Given the description of an element on the screen output the (x, y) to click on. 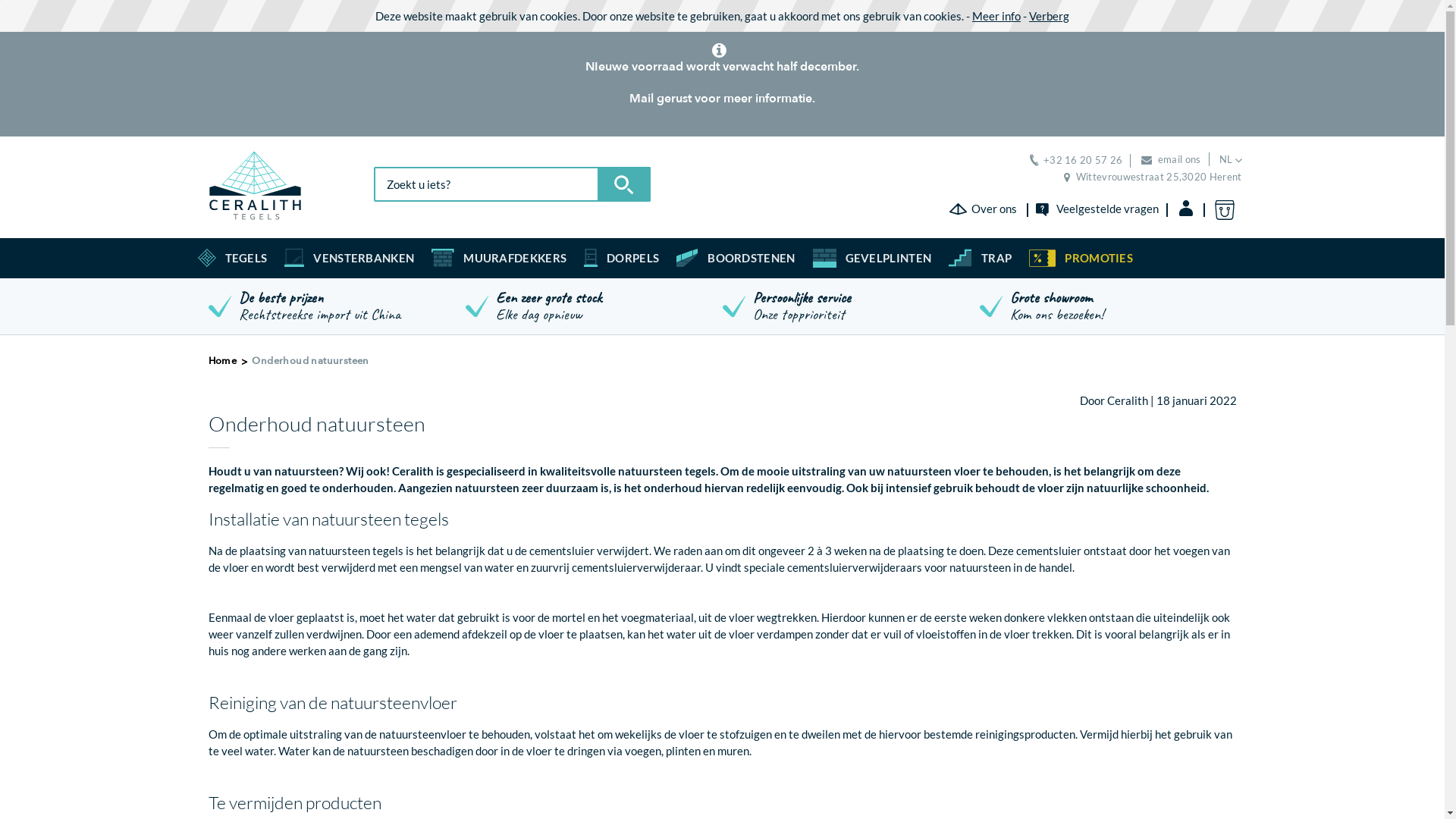
TRAP Element type: text (996, 257)
Home Element type: text (222, 361)
DORPELS Element type: text (632, 257)
email ons Element type: text (1171, 159)
Wittevrouwestraat 25,
3020 Herent Element type: text (1152, 176)
Over ons Element type: text (982, 208)
GEVELPLINTEN Element type: text (888, 257)
Verberg Element type: text (1049, 15)
Veelgestelde vragen Element type: text (1096, 208)
WINKELWAGEN Element type: text (1228, 209)
VENSTERBANKEN Element type: text (363, 257)
Meer info Element type: text (996, 15)
TEGELS Element type: text (245, 257)
+32 16 20 57 26 Element type: text (1076, 159)
PROMOTIES Element type: text (1098, 257)
ZOEK Element type: text (623, 183)
BOORDSTENEN Element type: text (750, 257)
MUURAFDEKKERS Element type: text (514, 257)
